Given the description of an element on the screen output the (x, y) to click on. 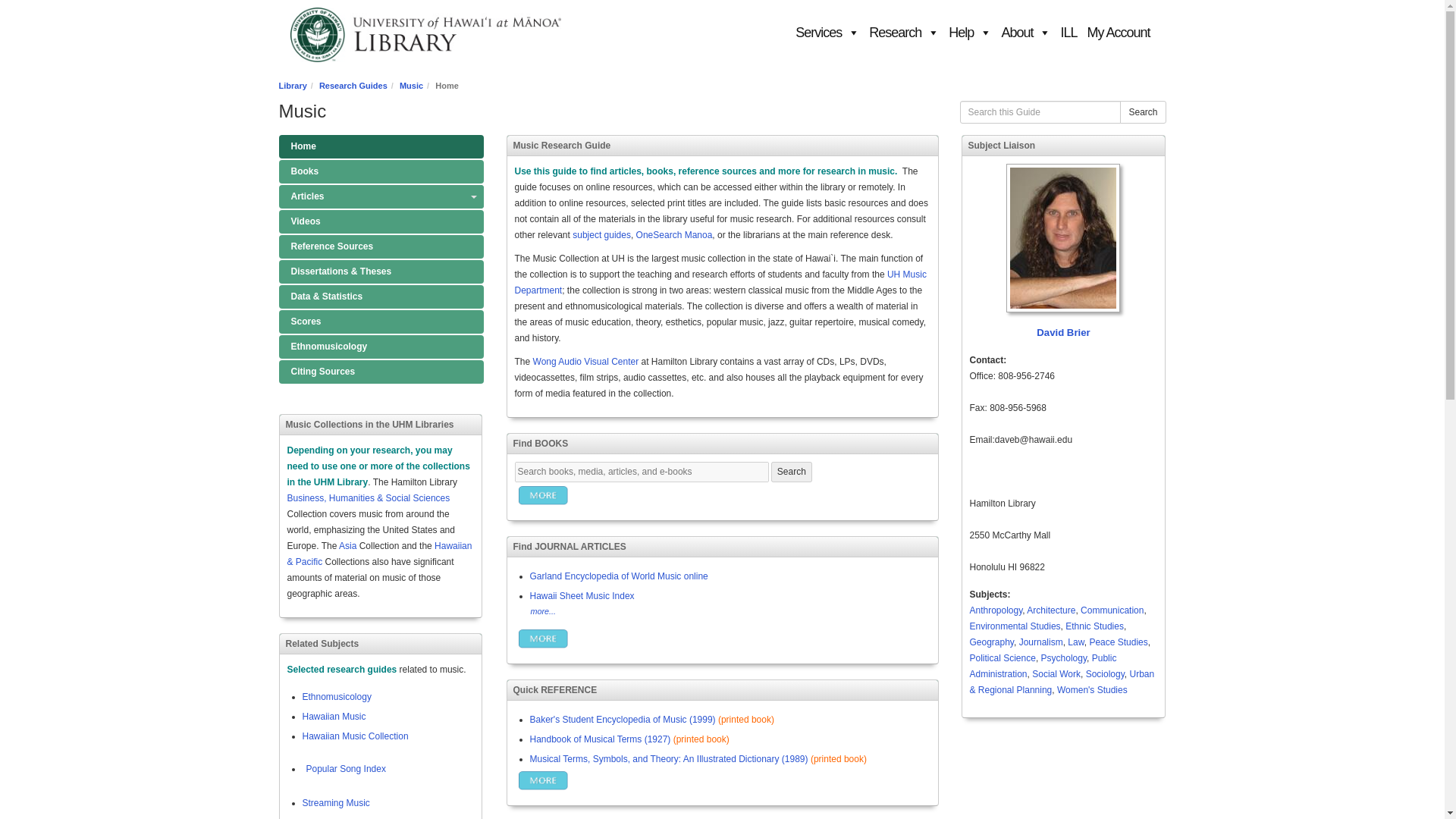
Help (969, 32)
Search (791, 471)
Services (826, 32)
Research (903, 32)
About (1024, 32)
